Given the description of an element on the screen output the (x, y) to click on. 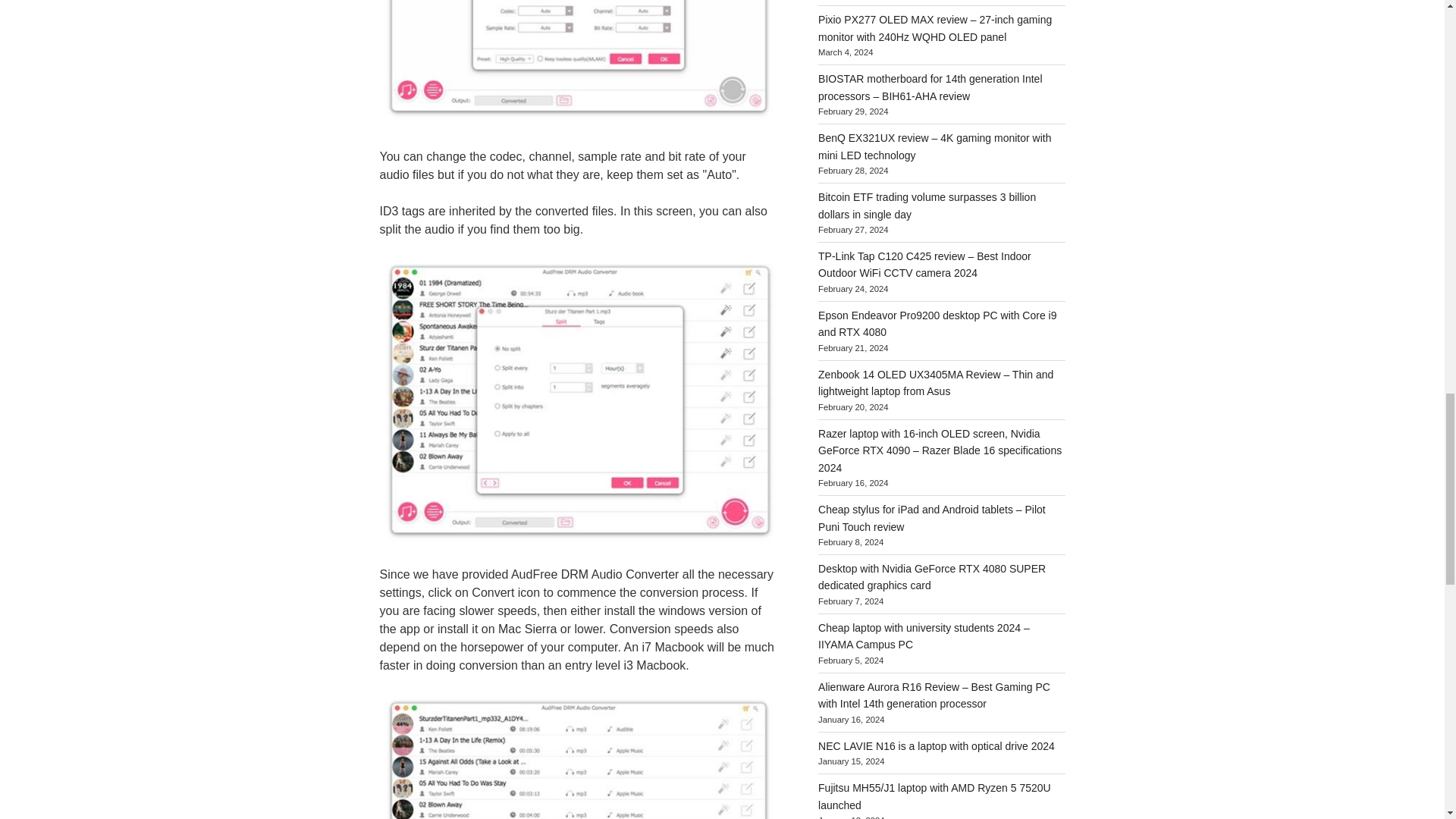
audfree 4 (577, 755)
audfree 3 (577, 399)
audfree 2 (577, 62)
